Given the description of an element on the screen output the (x, y) to click on. 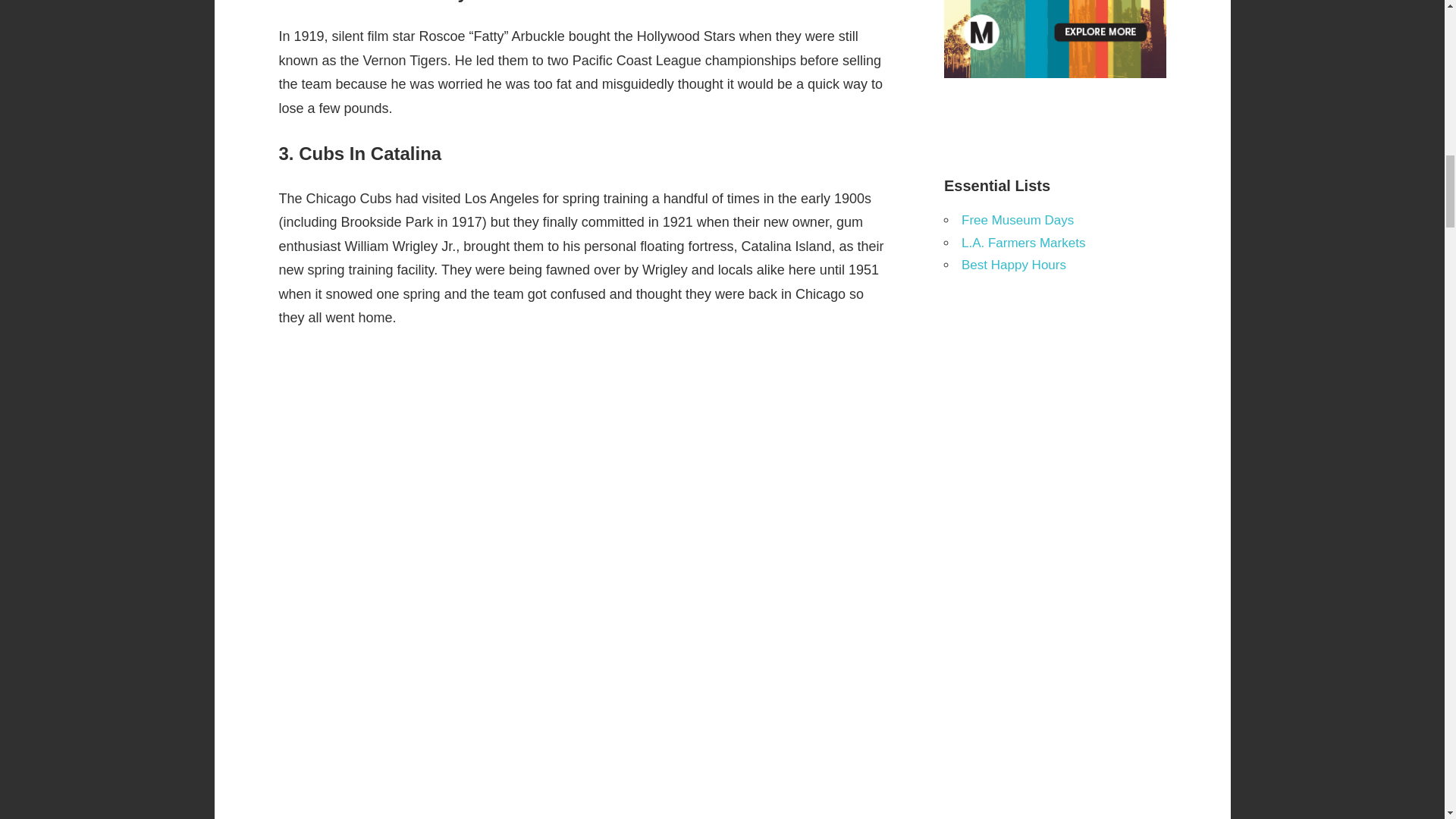
Free Museum Days (1017, 219)
L.A. Farmers Markets (1022, 242)
